Given the description of an element on the screen output the (x, y) to click on. 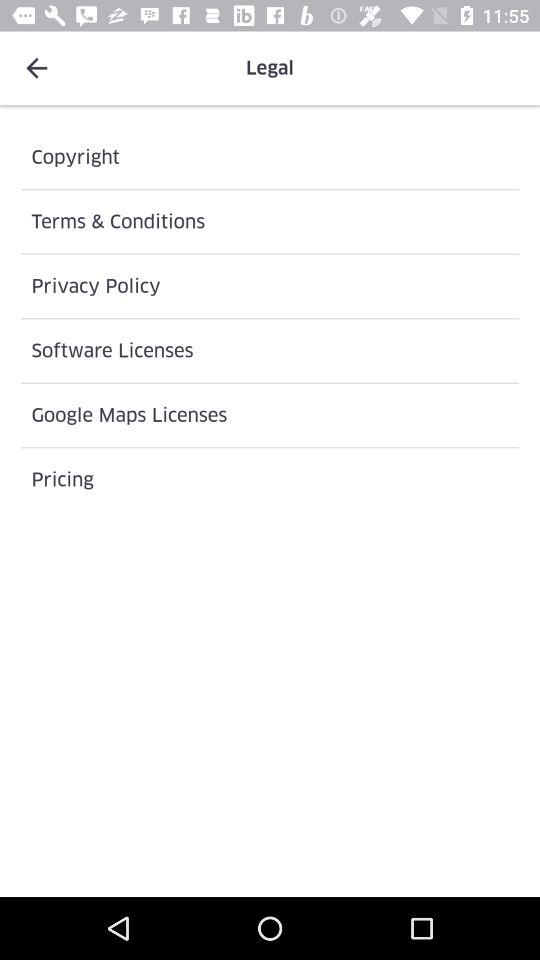
launch the item below the privacy policy icon (270, 350)
